Given the description of an element on the screen output the (x, y) to click on. 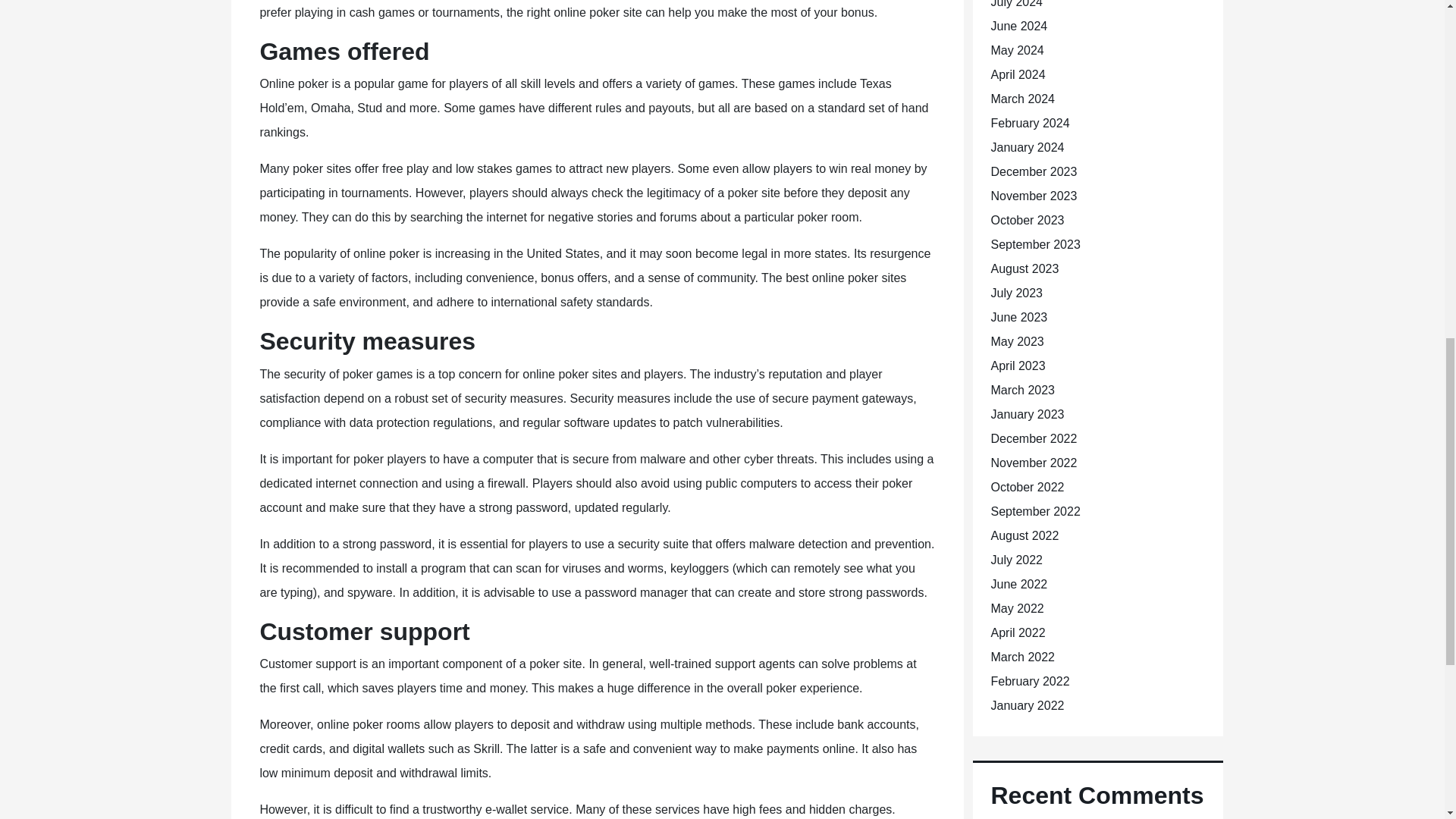
September 2023 (1035, 244)
July 2023 (1016, 292)
July 2022 (1016, 559)
February 2024 (1029, 123)
June 2022 (1018, 584)
August 2023 (1024, 268)
December 2022 (1033, 438)
March 2024 (1022, 98)
November 2022 (1033, 462)
August 2022 (1024, 535)
